Given the description of an element on the screen output the (x, y) to click on. 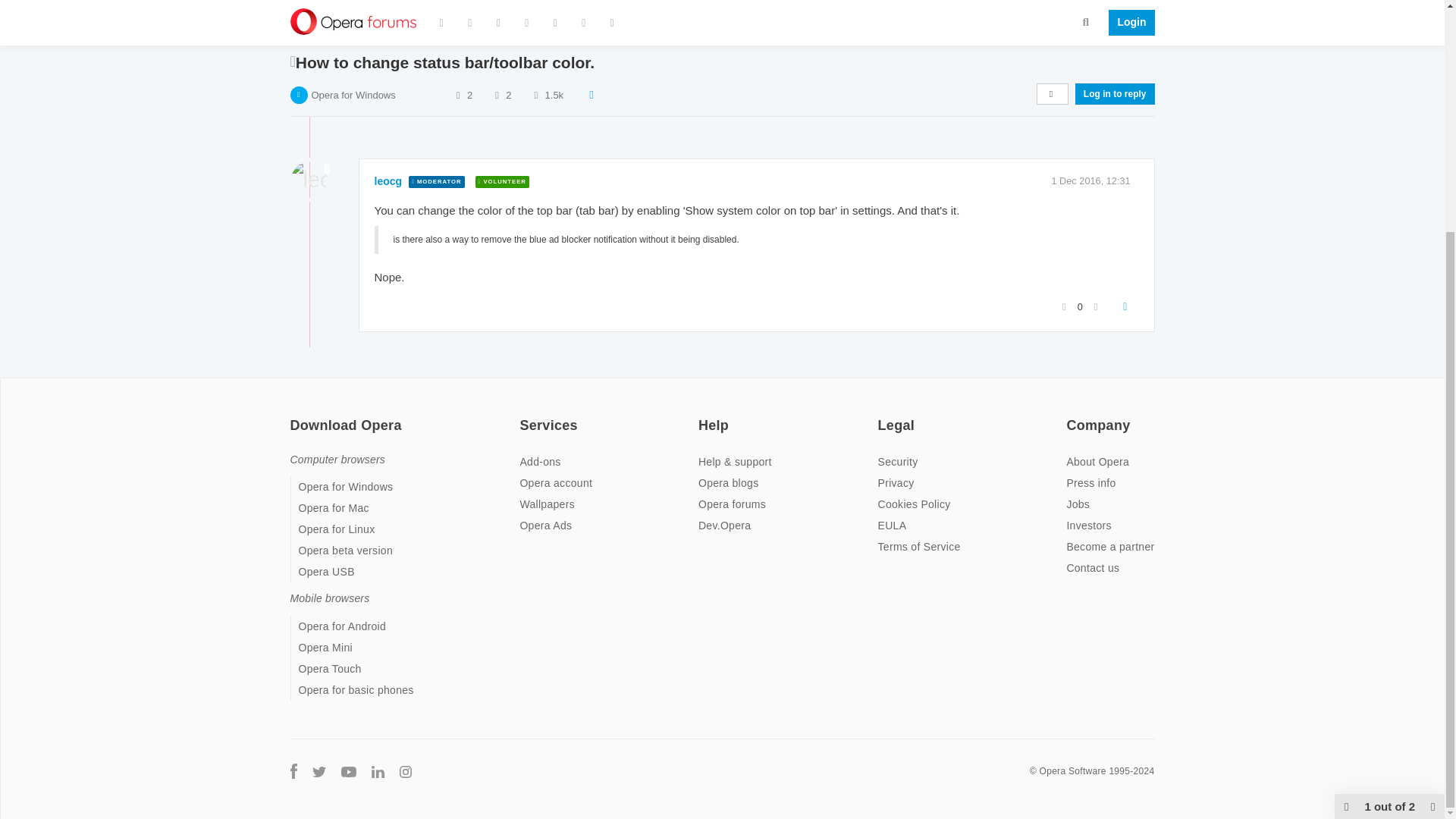
on (523, 415)
on (702, 415)
1 Dec 2016, 10:13 (1090, 15)
jackanthon (402, 15)
on (293, 415)
on (881, 415)
on (1070, 415)
